Given the description of an element on the screen output the (x, y) to click on. 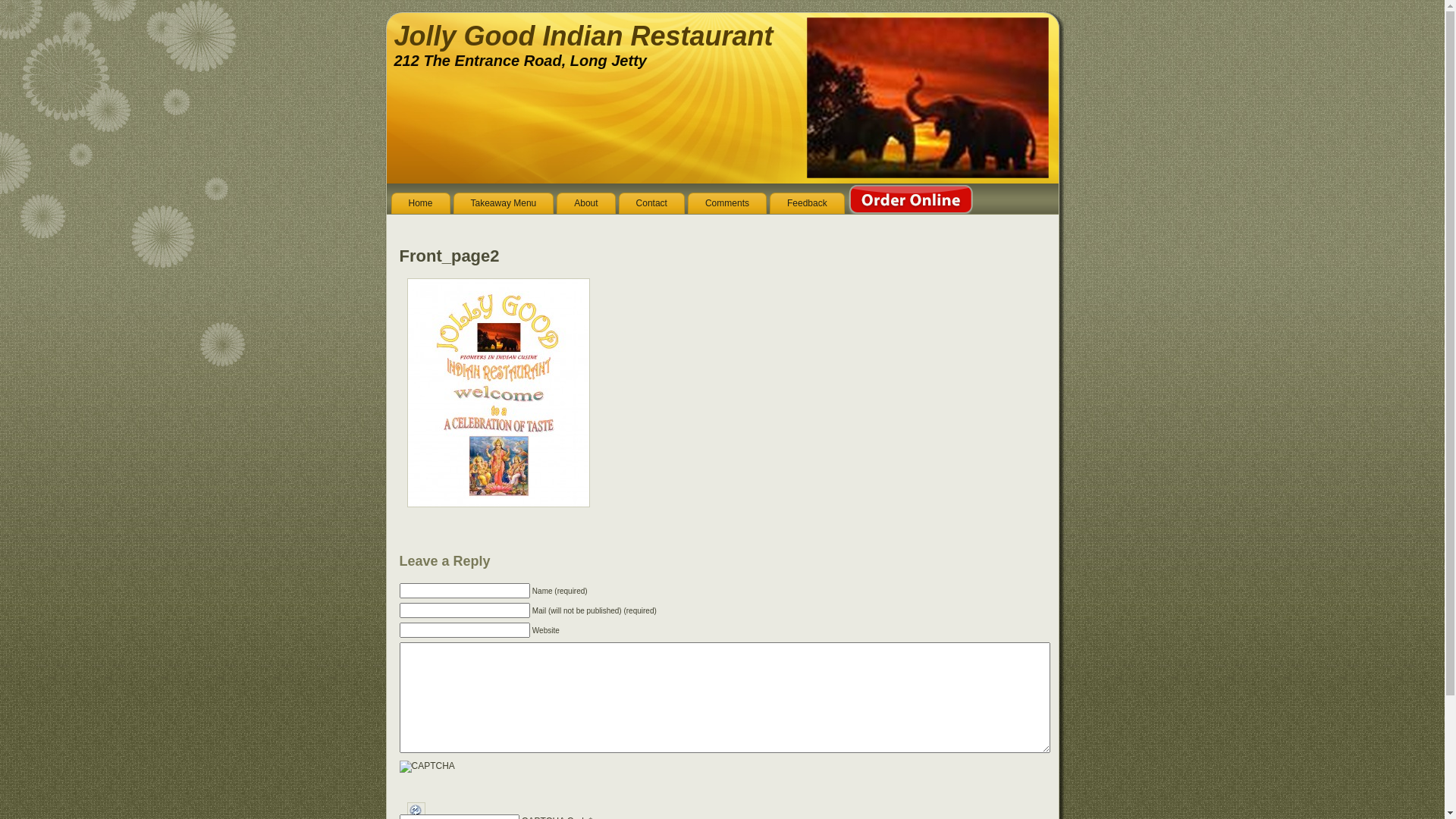
Comments Element type: text (726, 203)
Home Element type: text (420, 203)
About Element type: text (585, 203)
Contact Element type: text (651, 203)
CAPTCHA Element type: hover (450, 777)
Jolly Good Indian Restaurant Element type: text (583, 35)
Front_page2 Element type: text (448, 255)
Takeaway Menu Element type: text (503, 203)
Feedback Element type: text (806, 203)
